Given the description of an element on the screen output the (x, y) to click on. 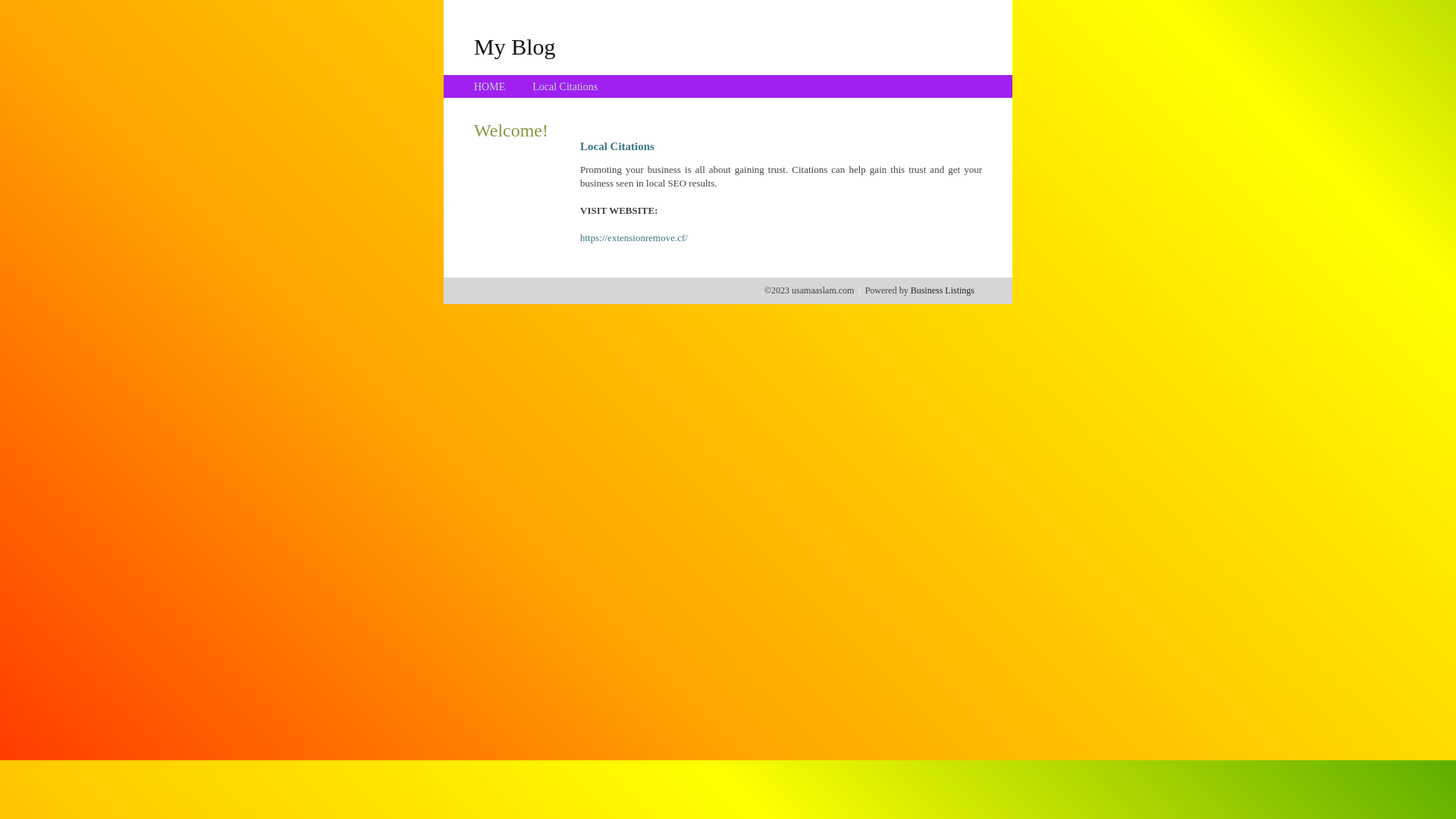
My Blog Element type: text (514, 46)
HOME Element type: text (489, 86)
https://extensionremove.cf/ Element type: text (633, 237)
Business Listings Element type: text (942, 290)
Local Citations Element type: text (564, 86)
